Given the description of an element on the screen output the (x, y) to click on. 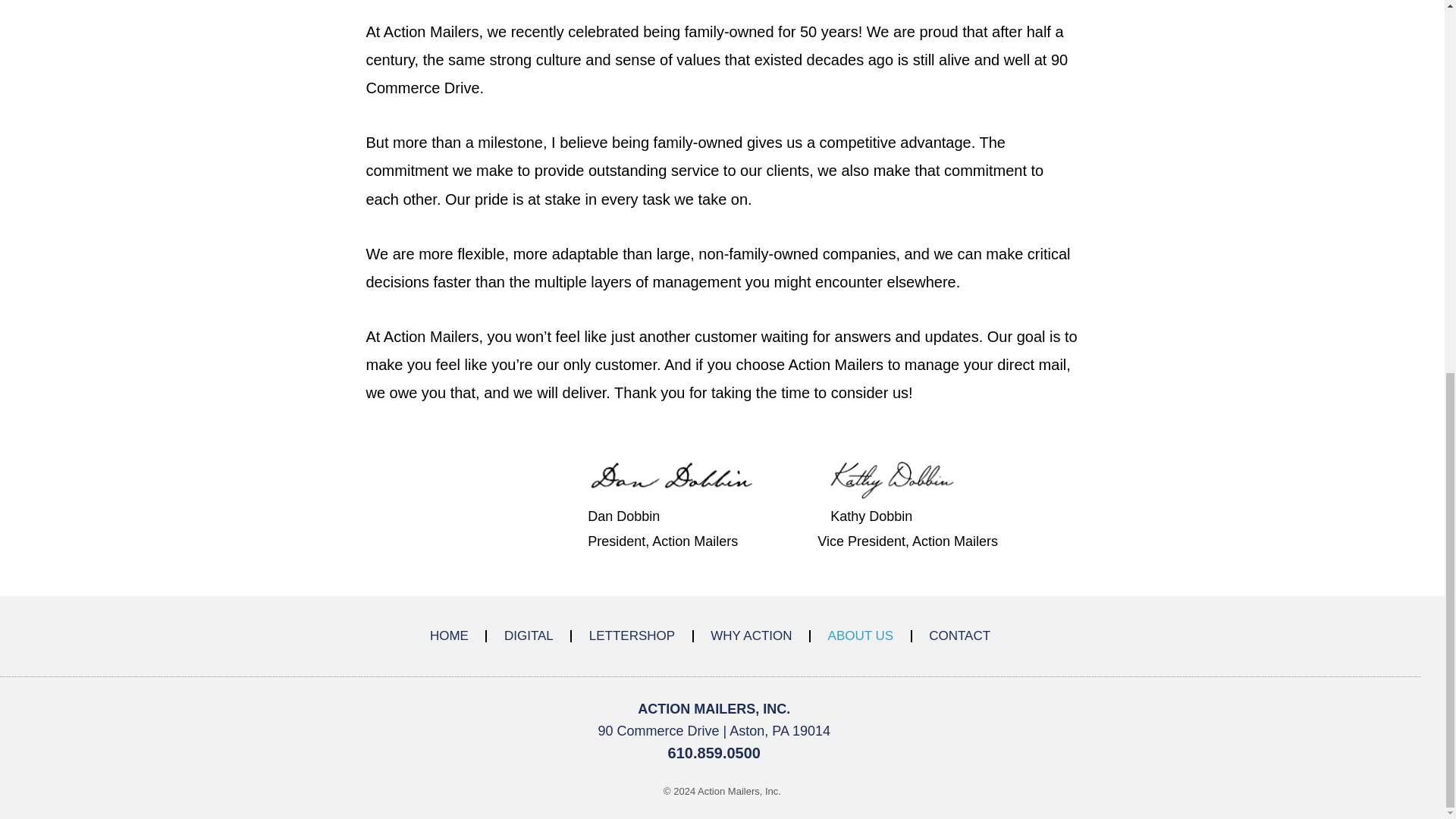
CONTACT (959, 636)
DIGITAL (528, 636)
HOME (448, 636)
WHY ACTION (751, 636)
LETTERSHOP (632, 636)
ABOUT US (860, 636)
